Given the description of an element on the screen output the (x, y) to click on. 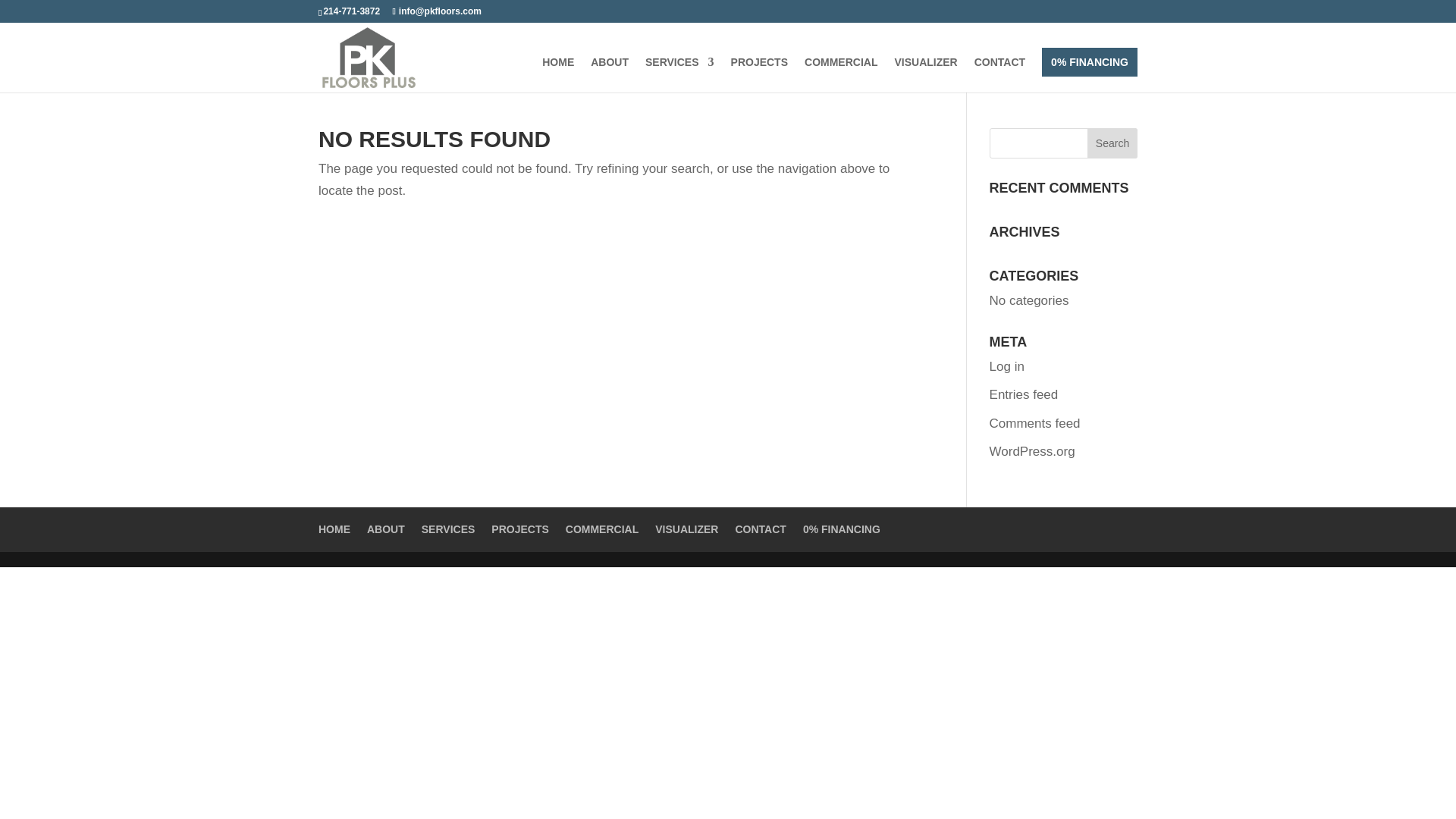
Search (1112, 142)
HOME (557, 74)
ABOUT (609, 74)
SERVICES (679, 74)
